Given the description of an element on the screen output the (x, y) to click on. 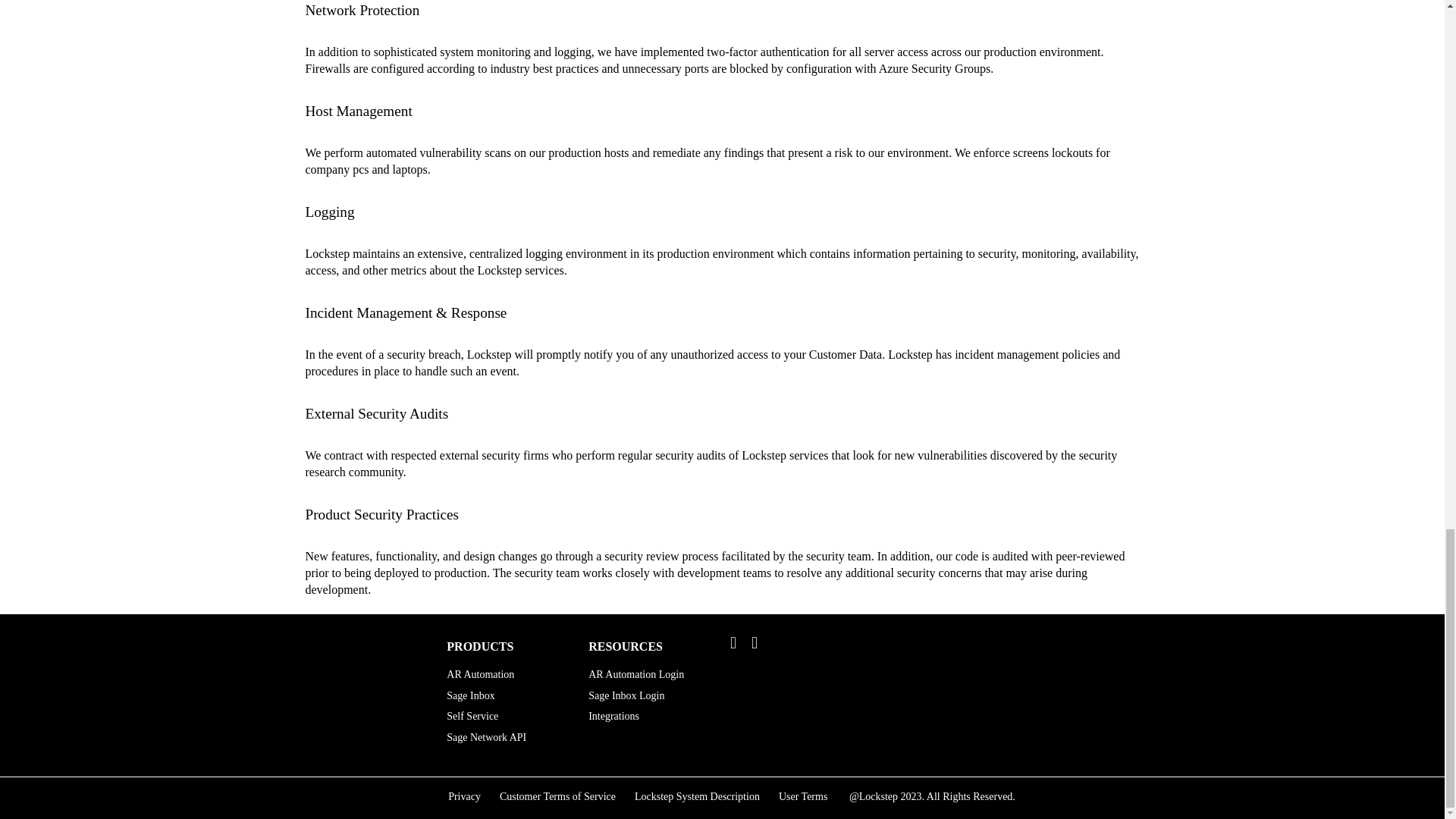
Sage Inbox Login (647, 699)
Sage Inbox (506, 695)
Sage Network API (506, 737)
AR Automation Login (647, 677)
Self Service (506, 716)
AR Automation (506, 674)
Integrations (647, 719)
